Given the description of an element on the screen output the (x, y) to click on. 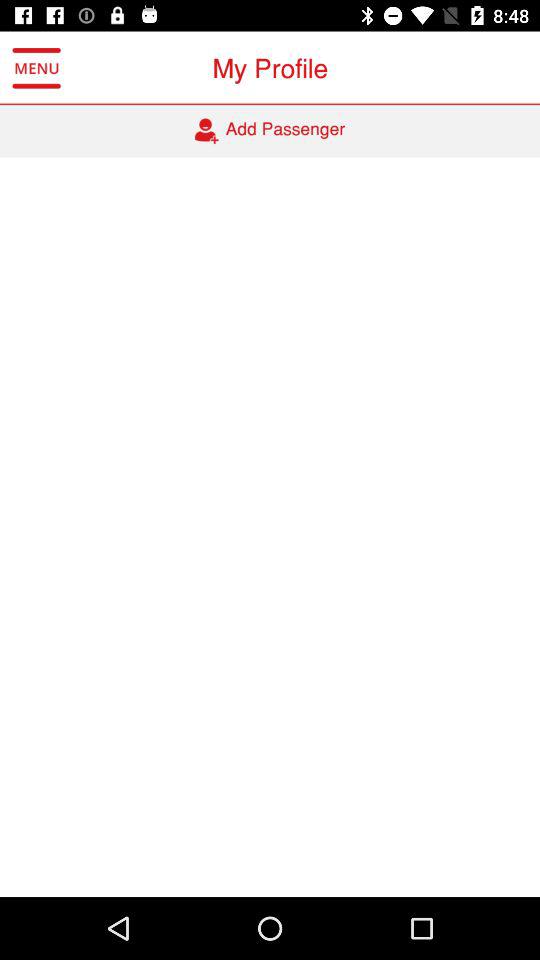
turn off add passenger item (269, 131)
